Given the description of an element on the screen output the (x, y) to click on. 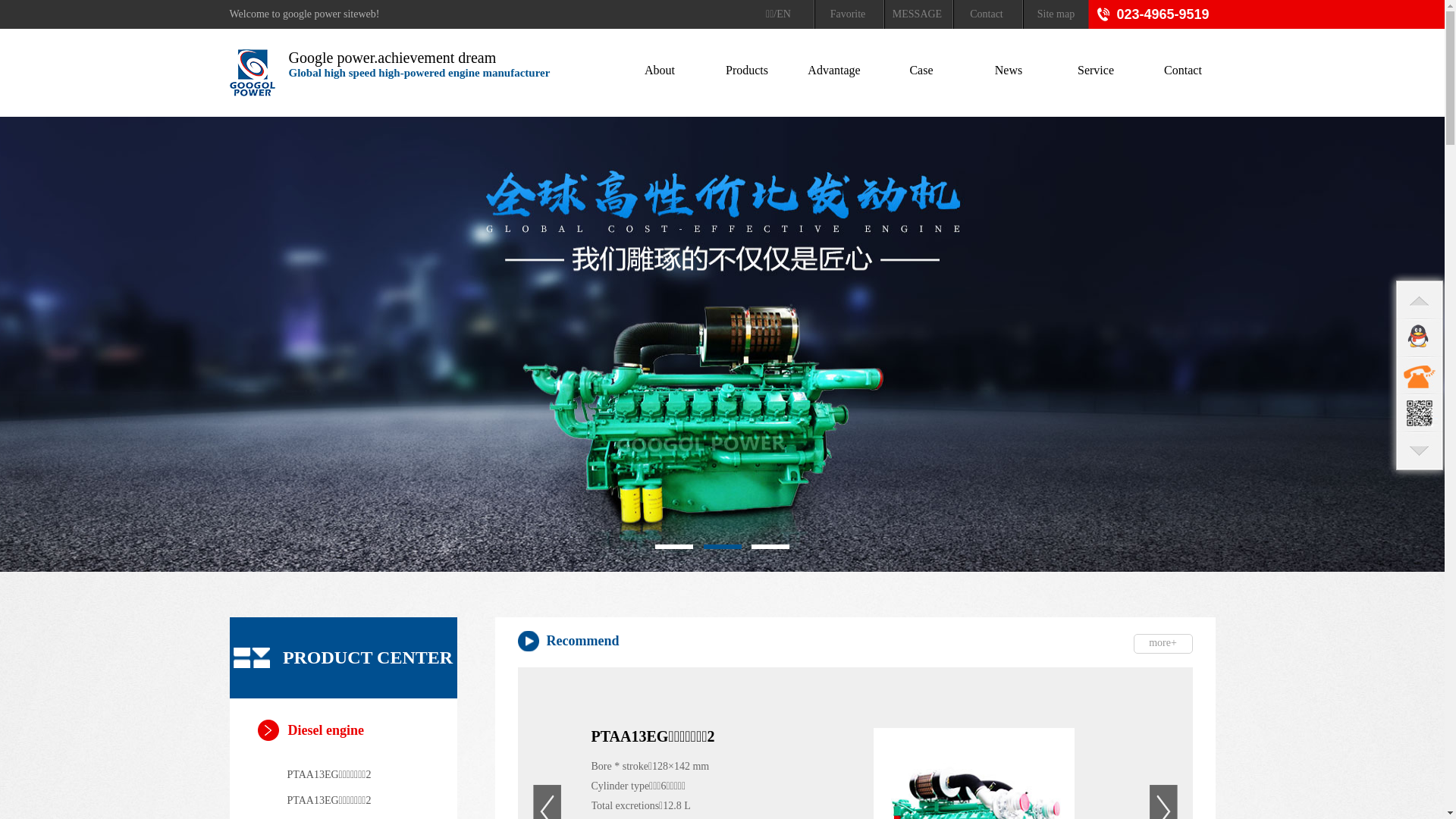
About Element type: text (659, 69)
Service Element type: text (1095, 69)
Contact Element type: text (1182, 69)
bottom Element type: text (1419, 451)
Site map Element type: text (1055, 14)
qr Element type: text (1419, 413)
more+ Element type: text (1162, 643)
Advantage Element type: text (833, 69)
News Element type: text (1008, 69)
MESSAGE Element type: text (915, 14)
Contact Element type: text (985, 14)
contact Element type: text (1419, 375)
Favorite Element type: text (846, 14)
Products Element type: text (746, 69)
qq Element type: text (1419, 337)
top Element type: text (1419, 299)
Case Element type: text (920, 69)
Diesel engine Element type: text (343, 730)
